Given the description of an element on the screen output the (x, y) to click on. 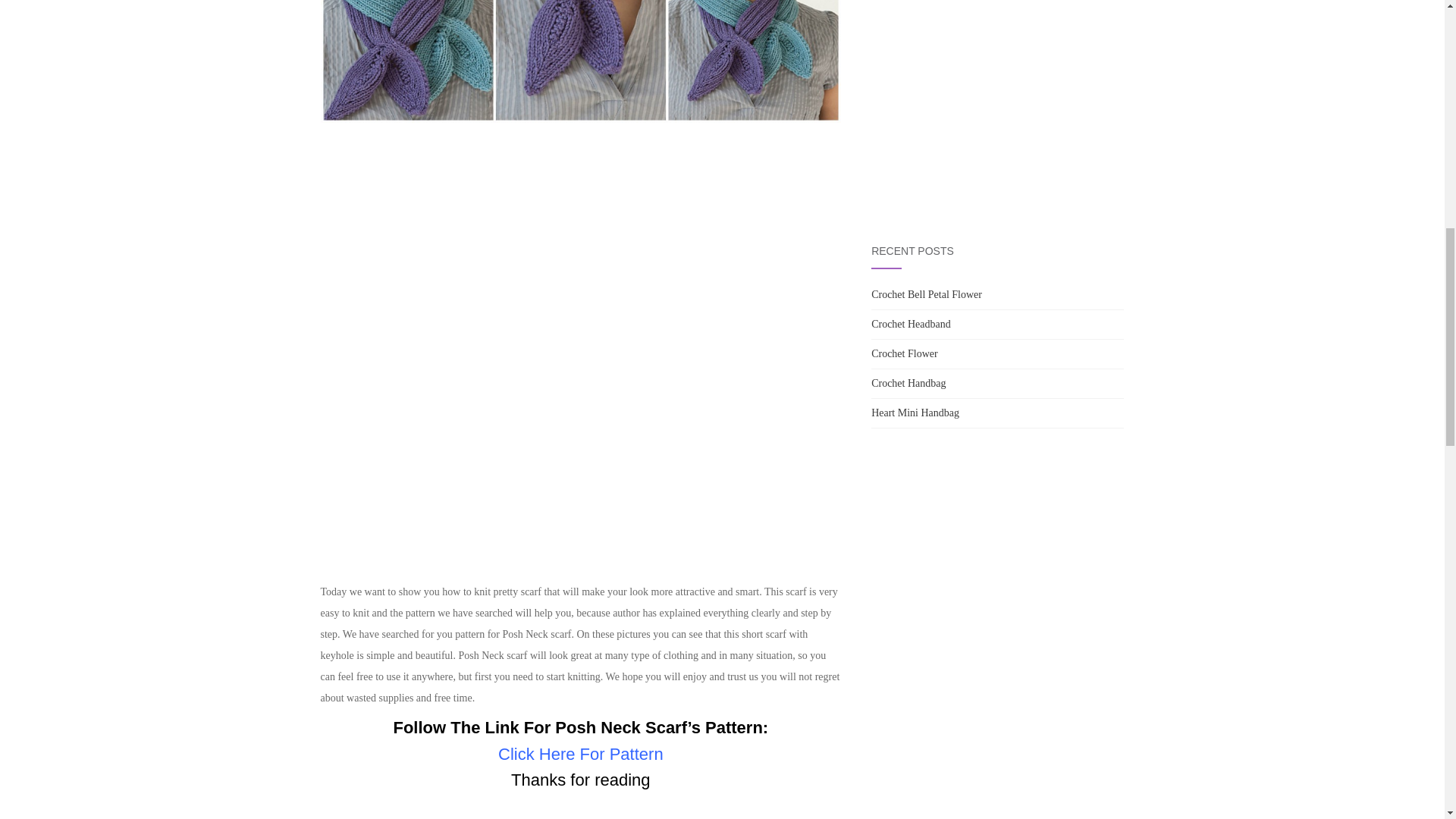
Crochetbook (997, 99)
Click Here For Pattern (580, 753)
